Given the description of an element on the screen output the (x, y) to click on. 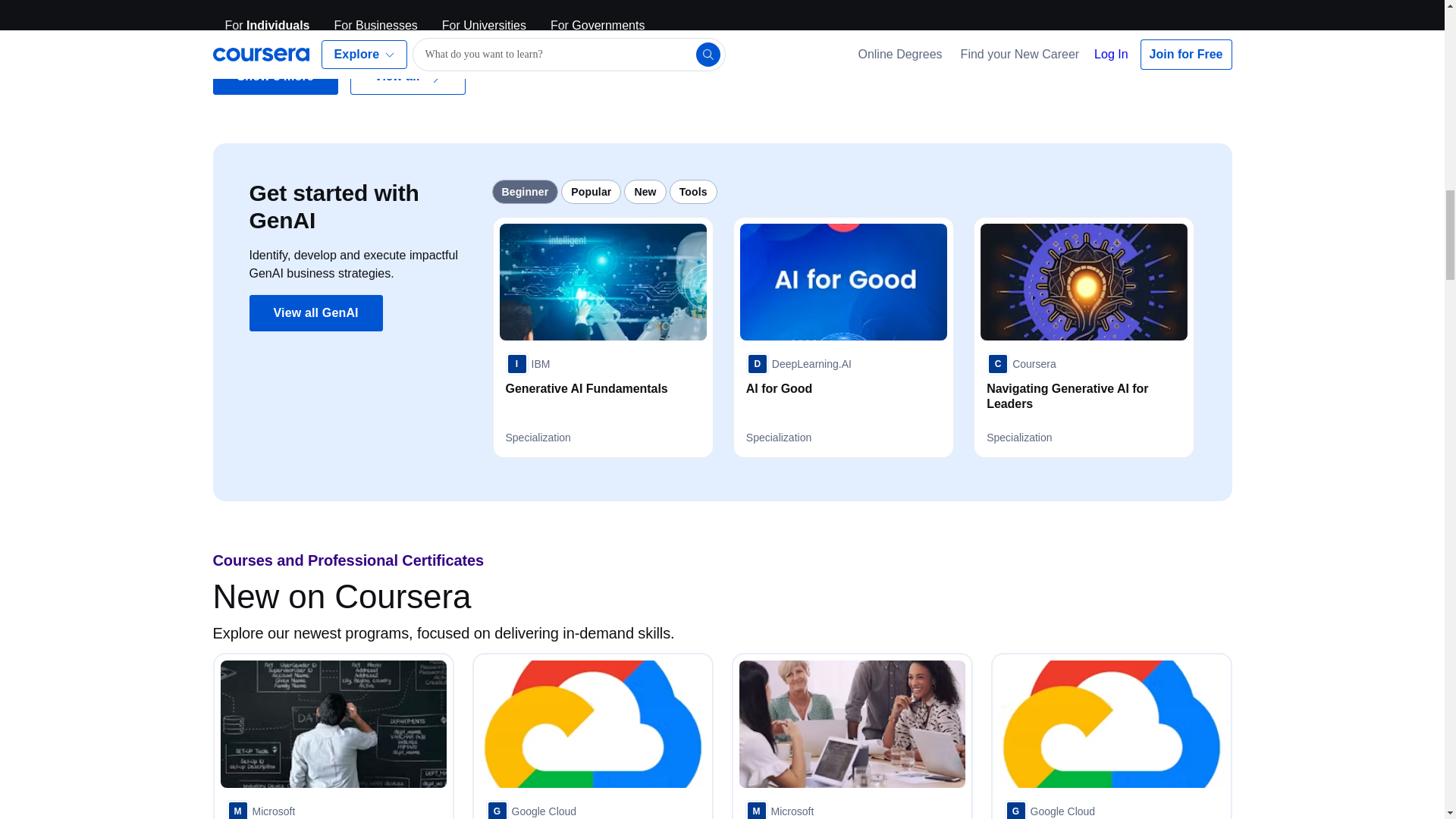
Google Cloud (530, 809)
View all (407, 76)
Show 8 more (274, 76)
Microsoft (778, 809)
Microsoft (260, 809)
IBM (527, 363)
Coursera  (1022, 363)
DeepLearning.AI (798, 363)
Google Cloud (1049, 809)
